Given the description of an element on the screen output the (x, y) to click on. 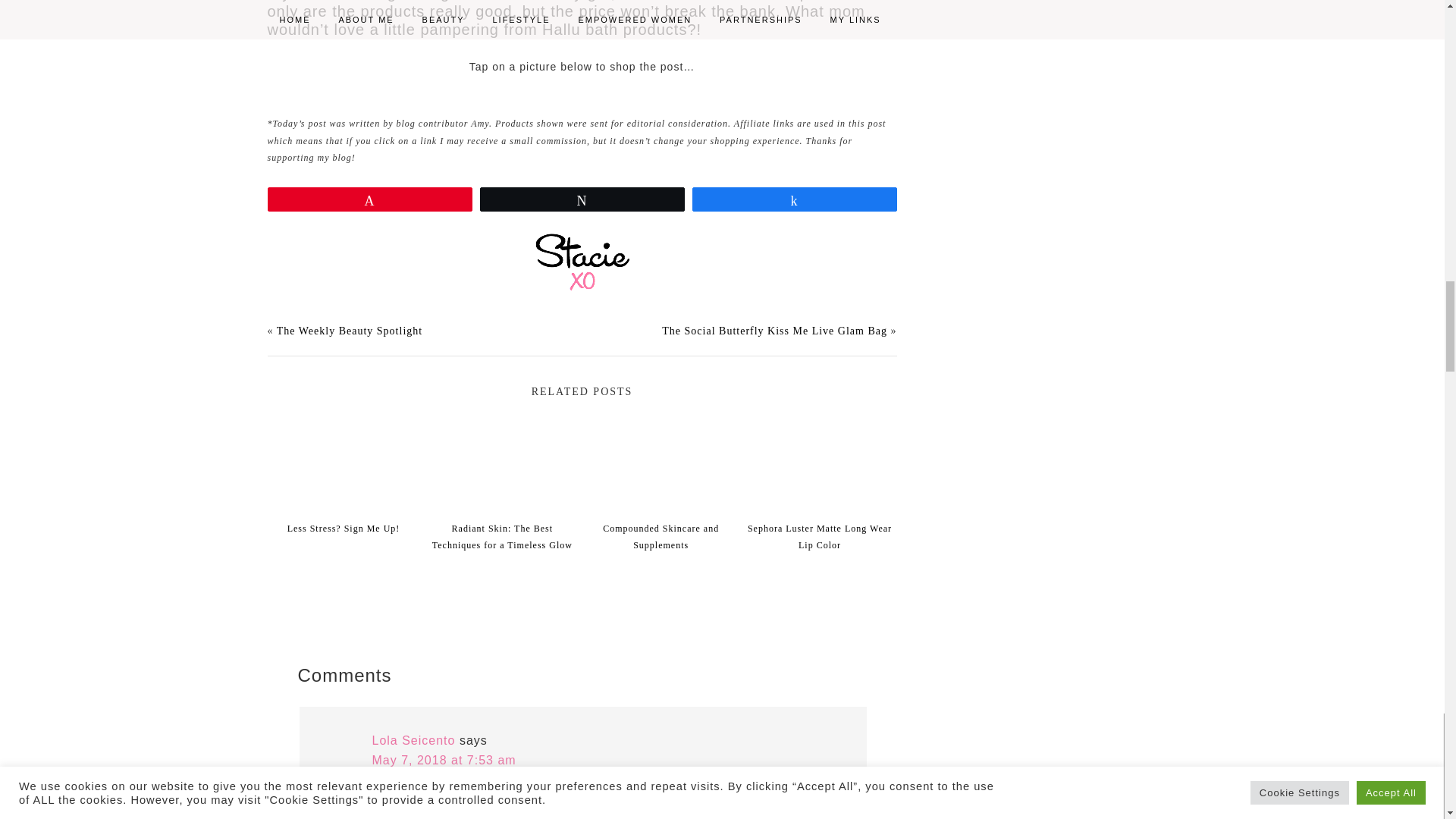
Permanent Link toCompounded Skincare and Supplements (660, 528)
Permanent Link toLess Stress? Sign Me Up! (342, 519)
Permanent Link toSephora Luster Matte Long Wear Lip Color (818, 528)
